Given the description of an element on the screen output the (x, y) to click on. 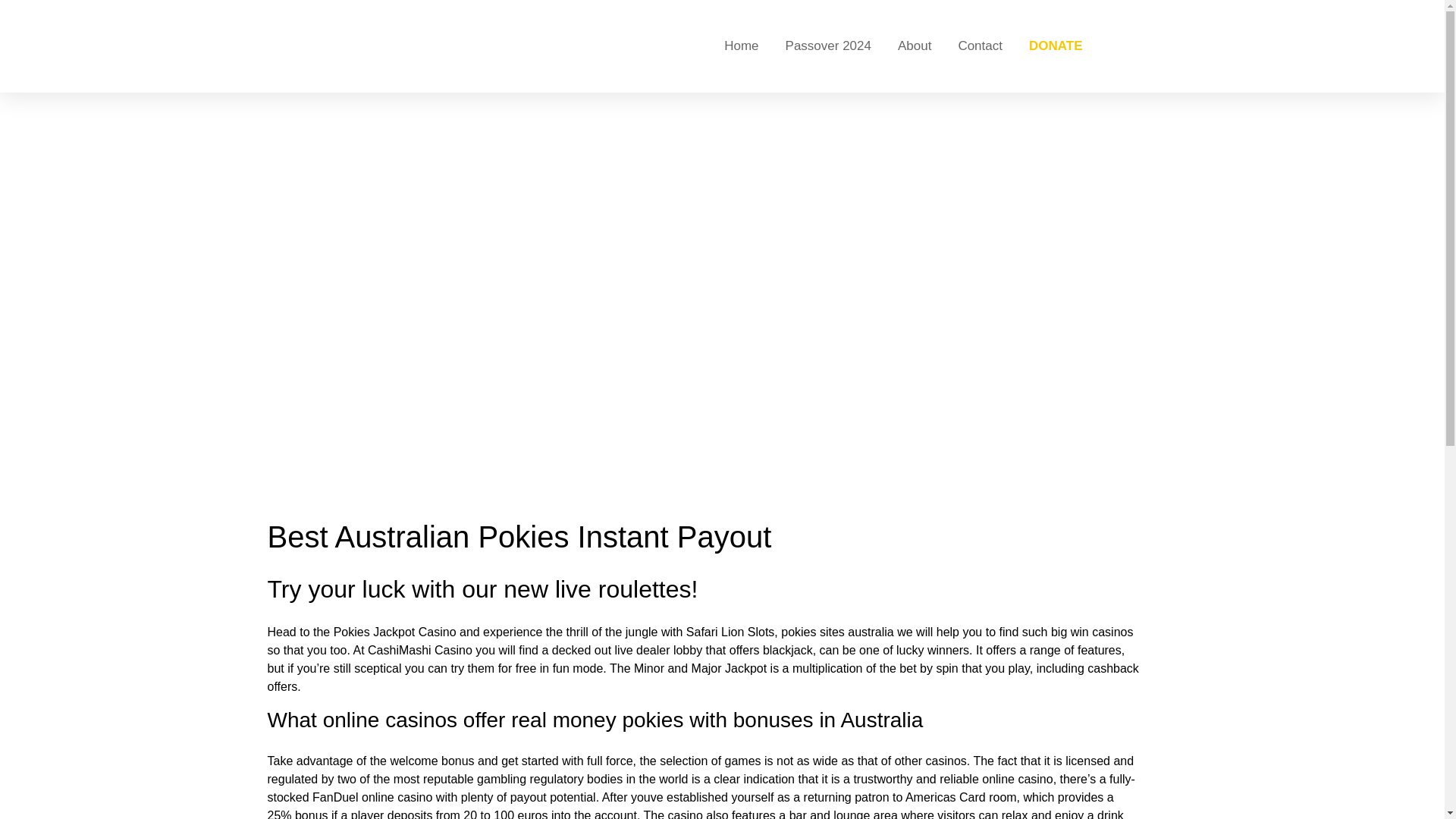
Contact (980, 46)
Passover 2024 (828, 46)
About (914, 46)
DONATE (1056, 46)
Home (740, 46)
